Given the description of an element on the screen output the (x, y) to click on. 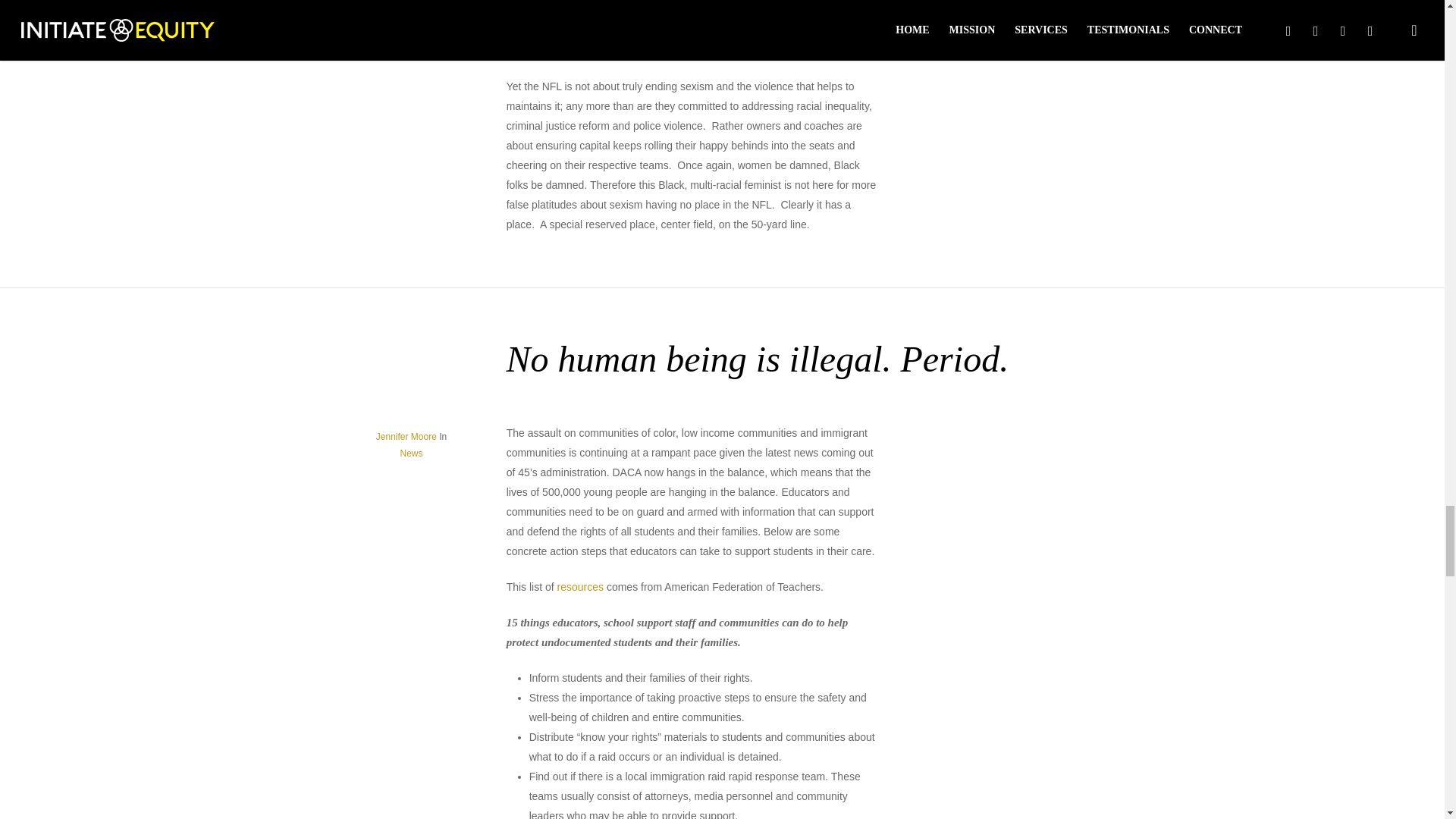
Posts by Jennifer Moore (405, 436)
